Given the description of an element on the screen output the (x, y) to click on. 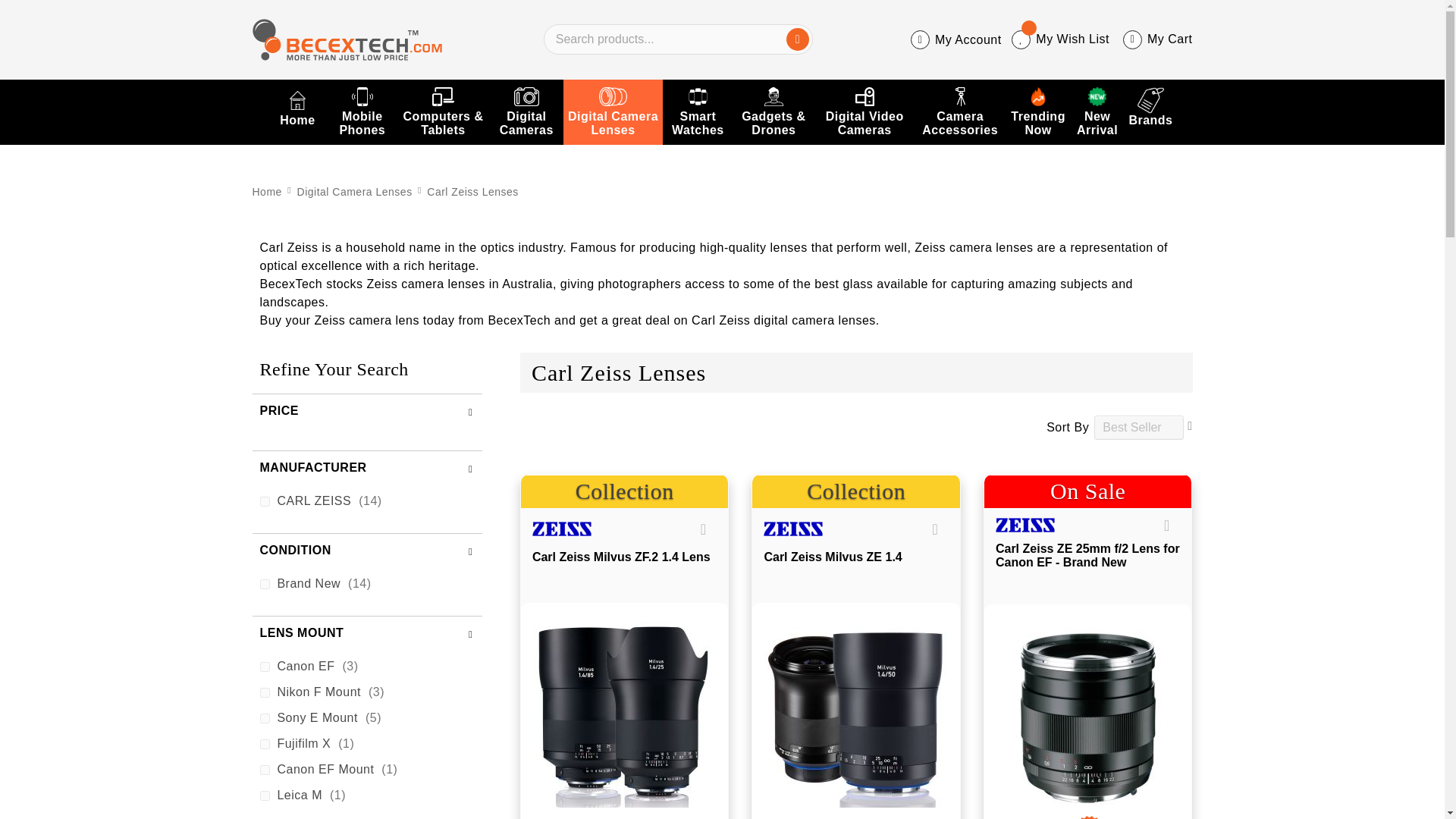
Add to Wish List (1166, 524)
Home (296, 111)
on (264, 768)
on (264, 583)
Mobile Phones (362, 111)
My Wish List (1060, 39)
Add to Wish List (935, 528)
on (264, 501)
Home (296, 111)
Go to Home Page (268, 191)
